Given the description of an element on the screen output the (x, y) to click on. 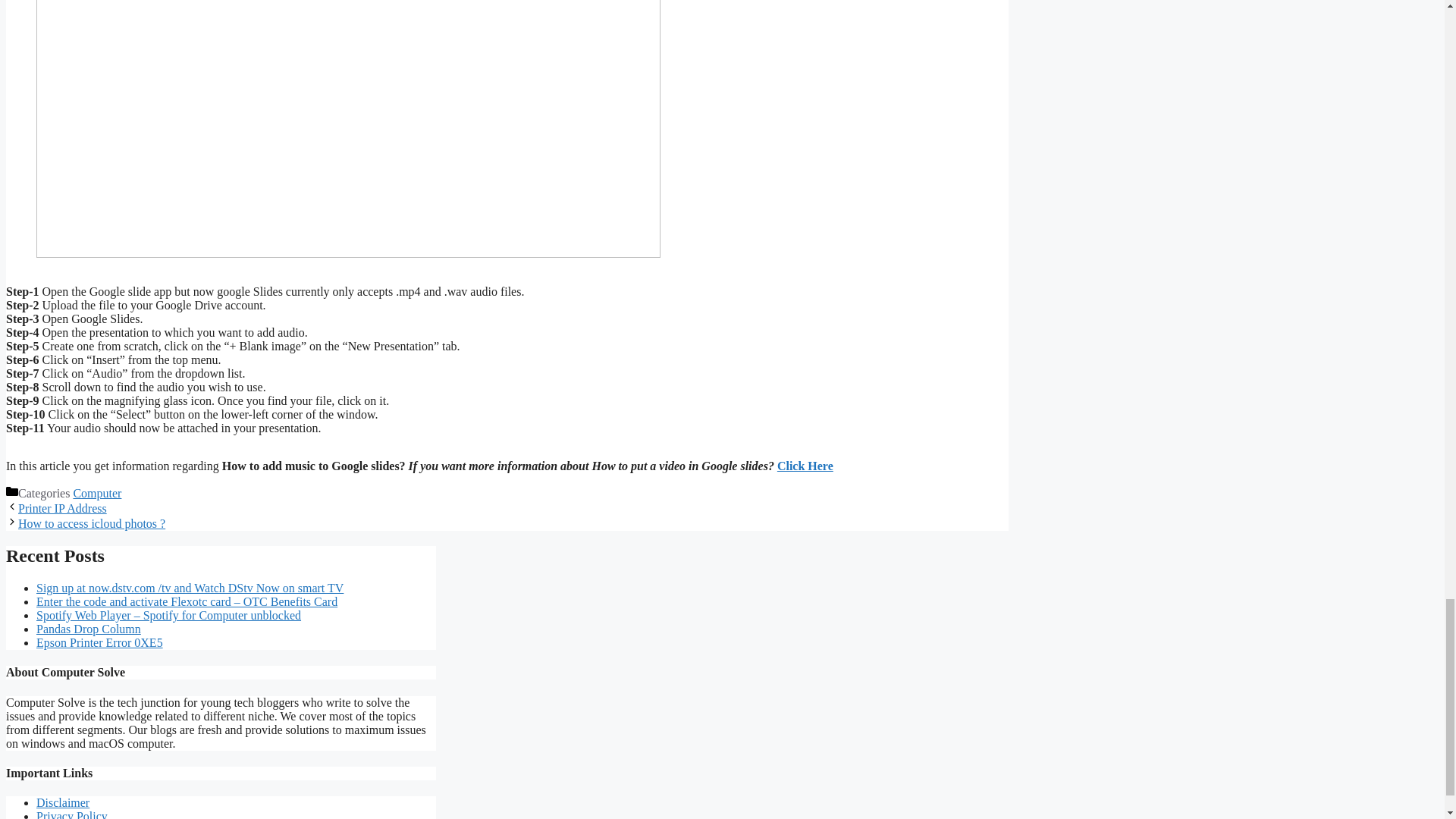
Printer IP Address (61, 508)
How to access icloud photos ? (91, 522)
Computer (96, 492)
Click Here (804, 465)
